Given the description of an element on the screen output the (x, y) to click on. 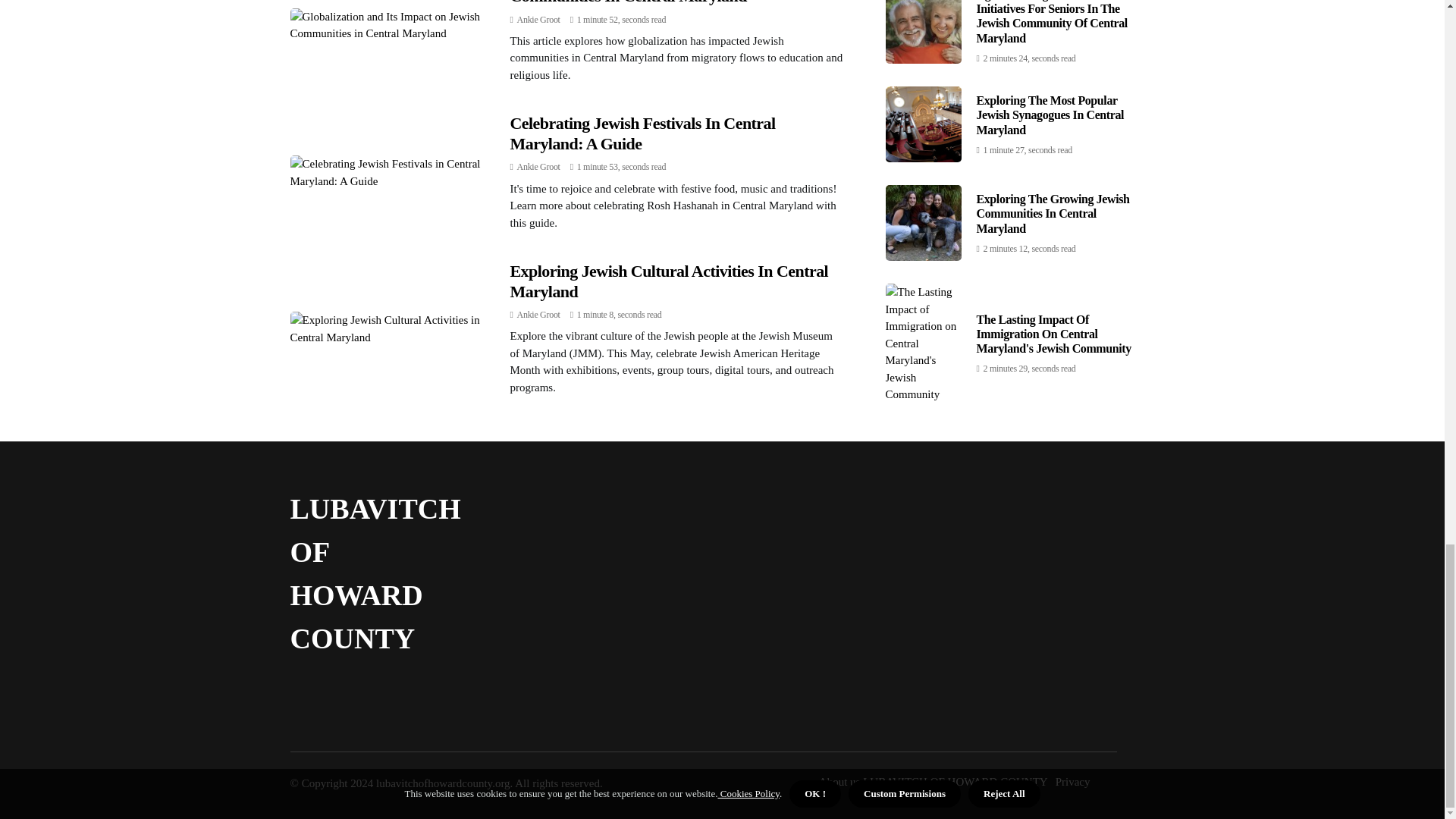
Posts by Ankie Groot (538, 19)
Posts by Ankie Groot (538, 166)
Celebrating Jewish Festivals In Central Maryland: A Guide (641, 132)
Ankie Groot (538, 19)
Exploring Jewish Cultural Activities In Central Maryland (668, 280)
Posts by Ankie Groot (538, 314)
Ankie Groot (538, 166)
Ankie Groot (538, 314)
